Given the description of an element on the screen output the (x, y) to click on. 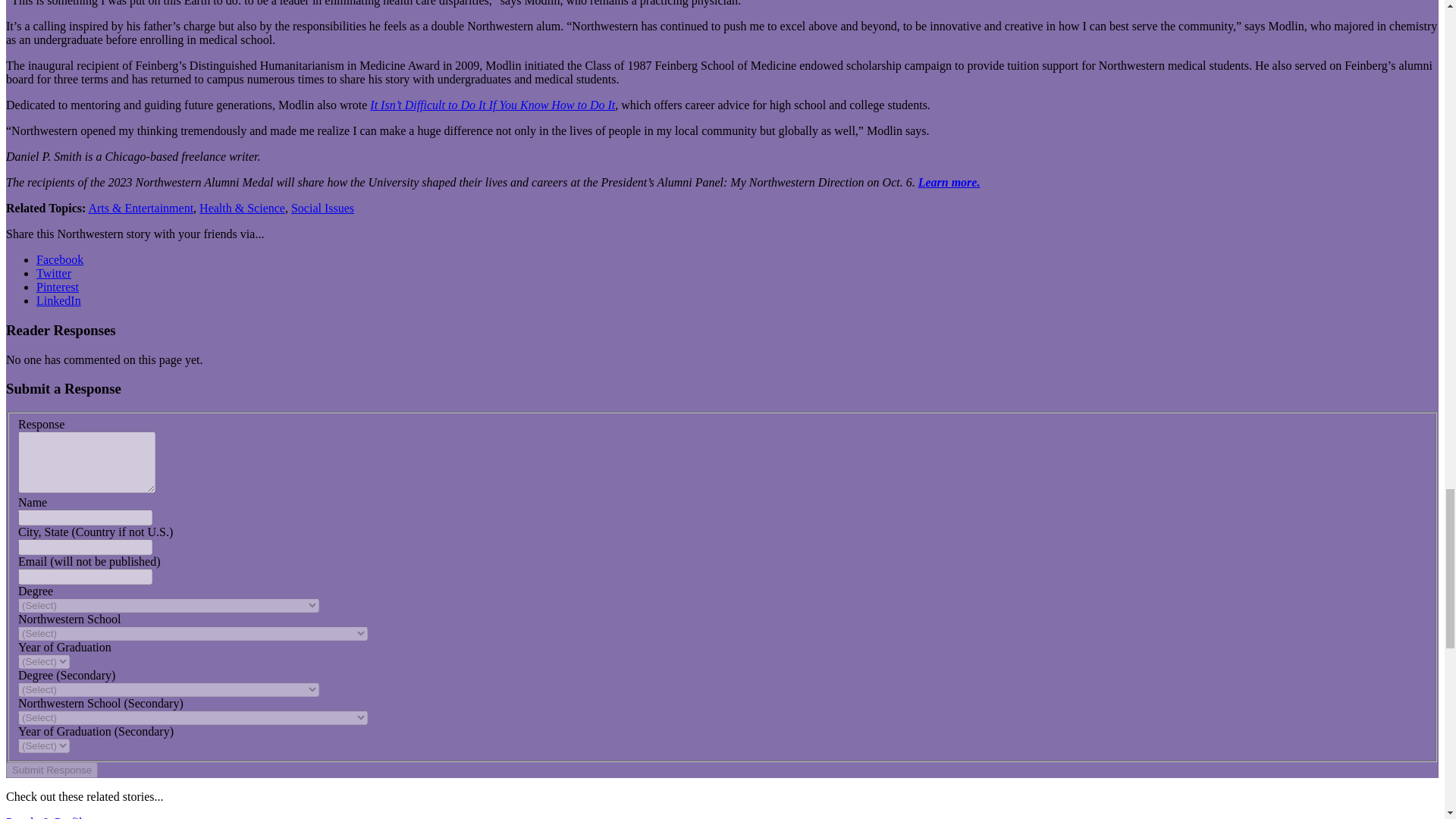
Submit Response (51, 770)
